Given the description of an element on the screen output the (x, y) to click on. 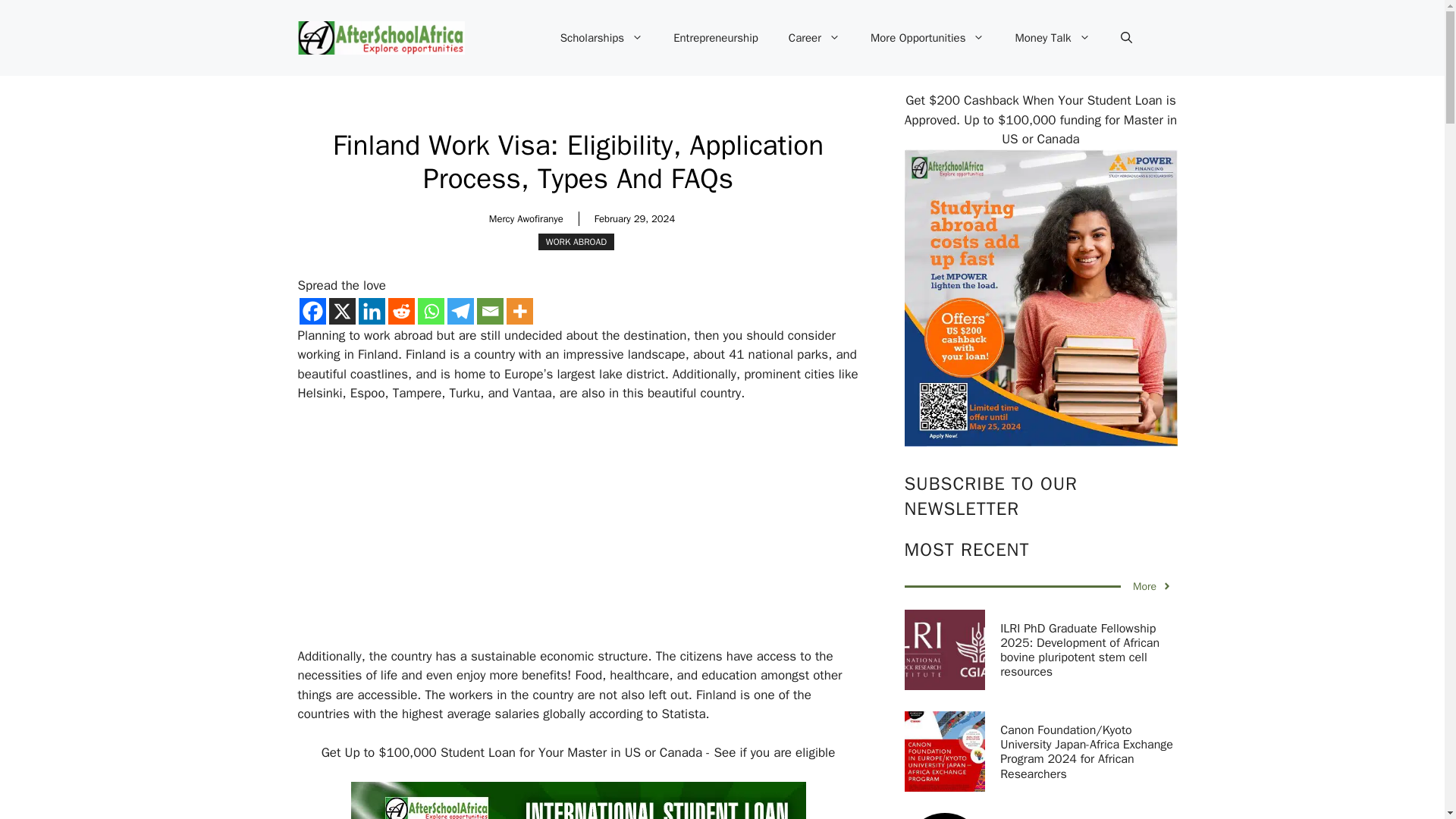
WORK ABROAD (576, 241)
More (519, 311)
X (342, 311)
More Opportunities (928, 37)
Career (814, 37)
Reddit (401, 311)
Scholarships (601, 37)
Entrepreneurship (715, 37)
Whatsapp (430, 311)
Money Talk (1051, 37)
Facebook (311, 311)
Telegram (460, 311)
Linkedin (371, 311)
Email (489, 311)
